Given the description of an element on the screen output the (x, y) to click on. 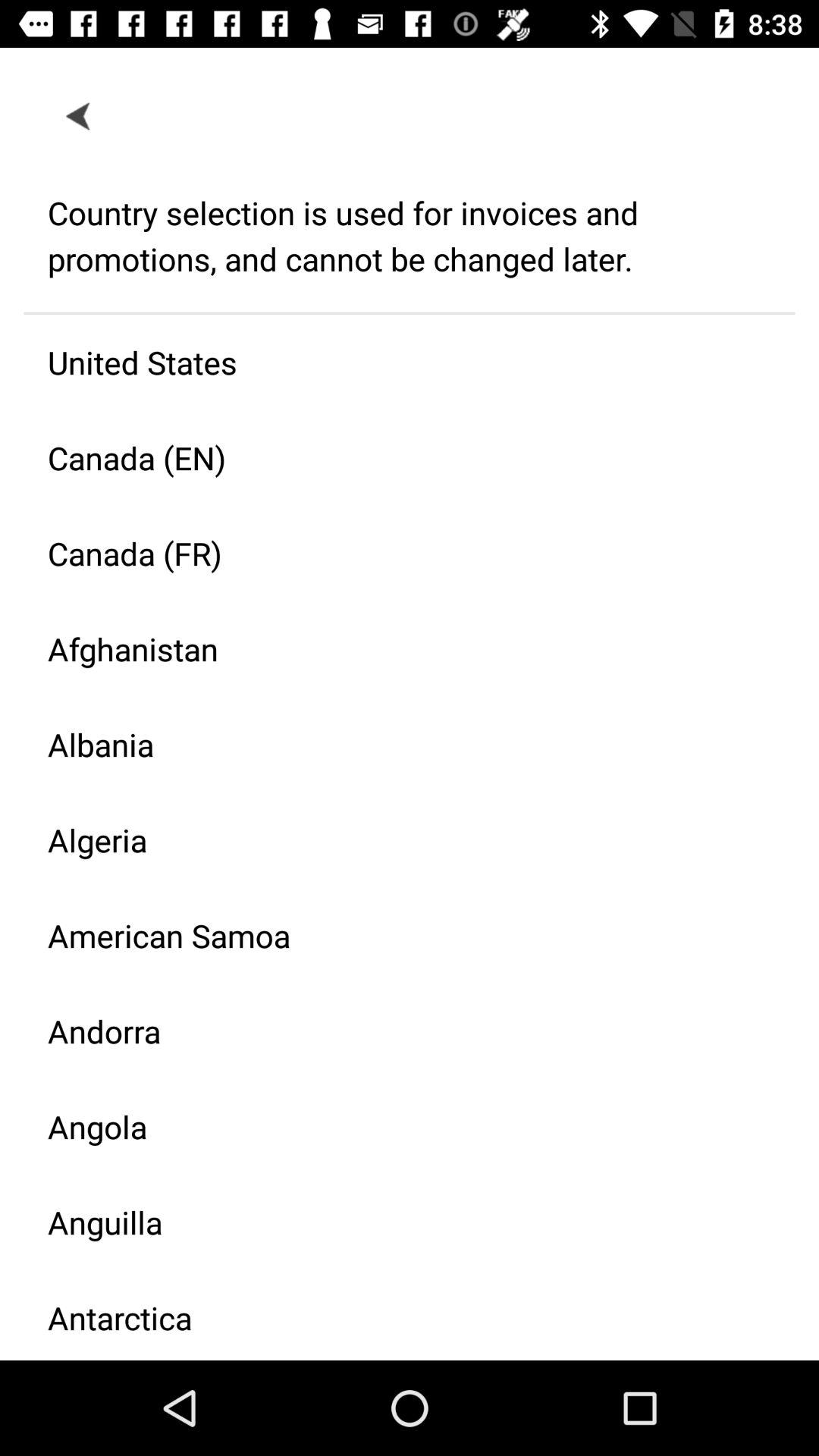
jump to the andorra icon (397, 1030)
